Given the description of an element on the screen output the (x, y) to click on. 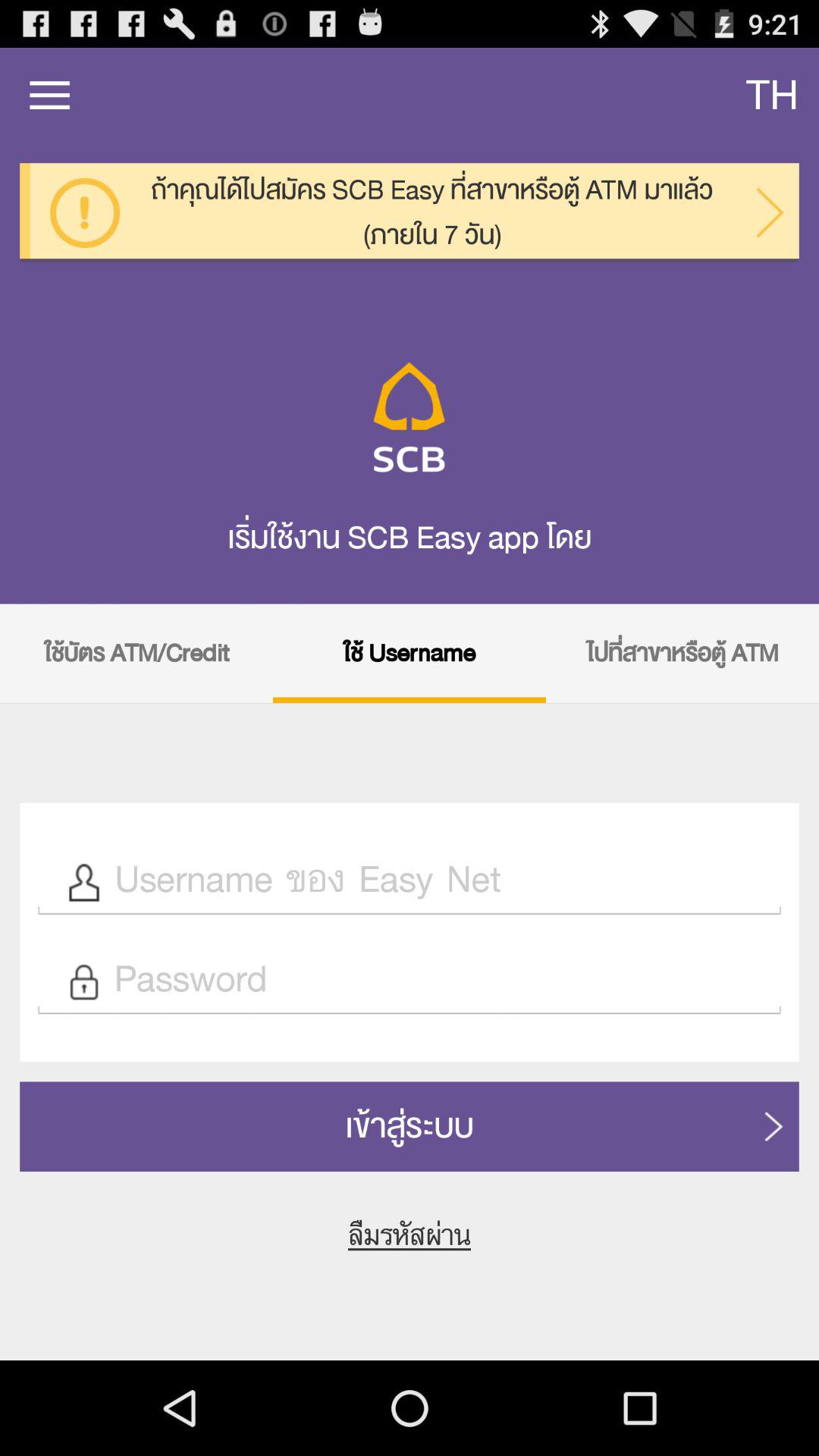
password box (439, 981)
